Given the description of an element on the screen output the (x, y) to click on. 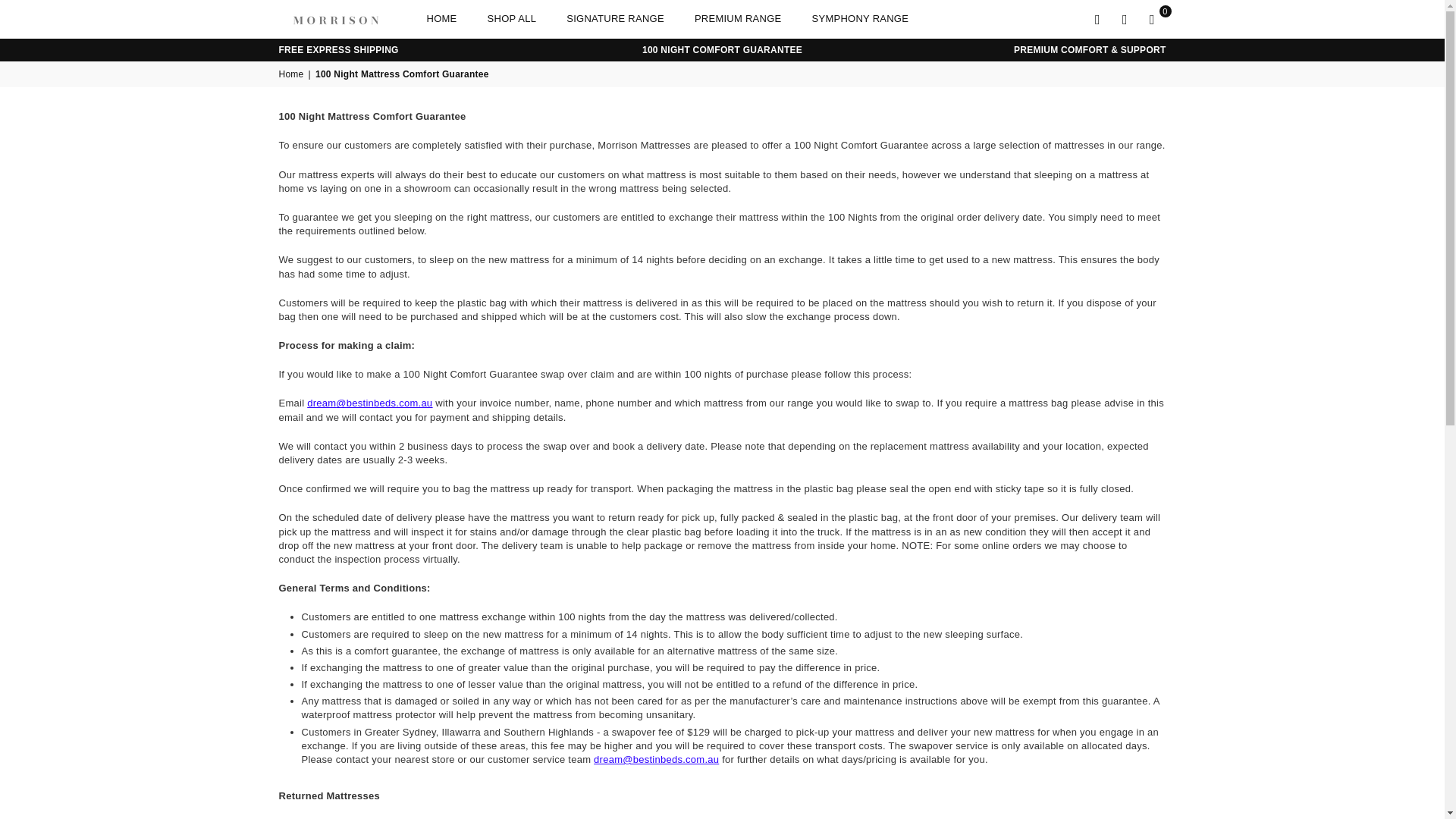
Settings (1125, 18)
HOME (441, 19)
SIGNATURE RANGE (614, 19)
SHOP ALL (512, 19)
Back to the home page (292, 74)
PREMIUM RANGE (737, 19)
Cart (1152, 18)
MORRISON MATTRESS (346, 18)
Search (1098, 18)
